Given the description of an element on the screen output the (x, y) to click on. 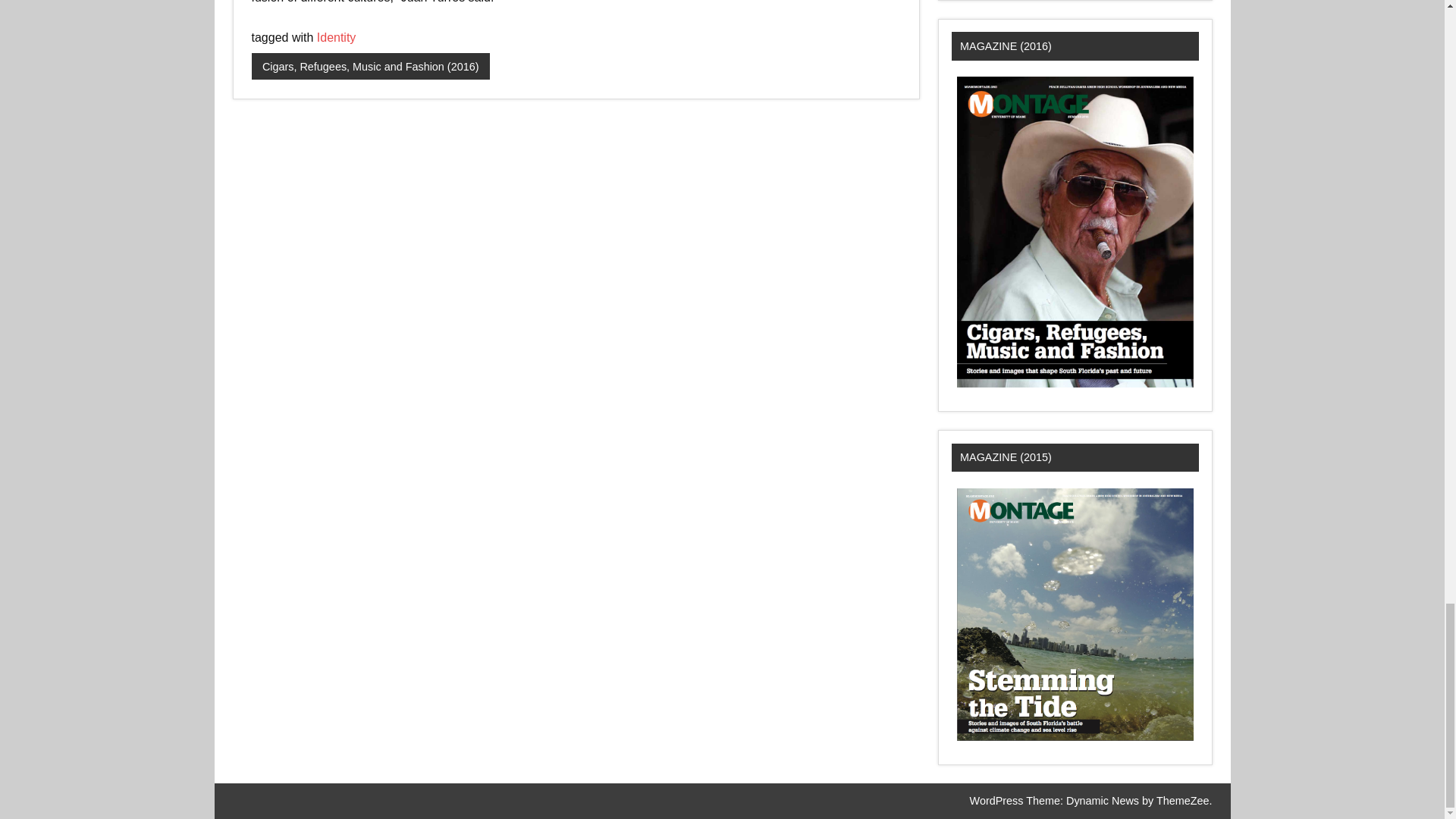
Identity (336, 37)
